Given the description of an element on the screen output the (x, y) to click on. 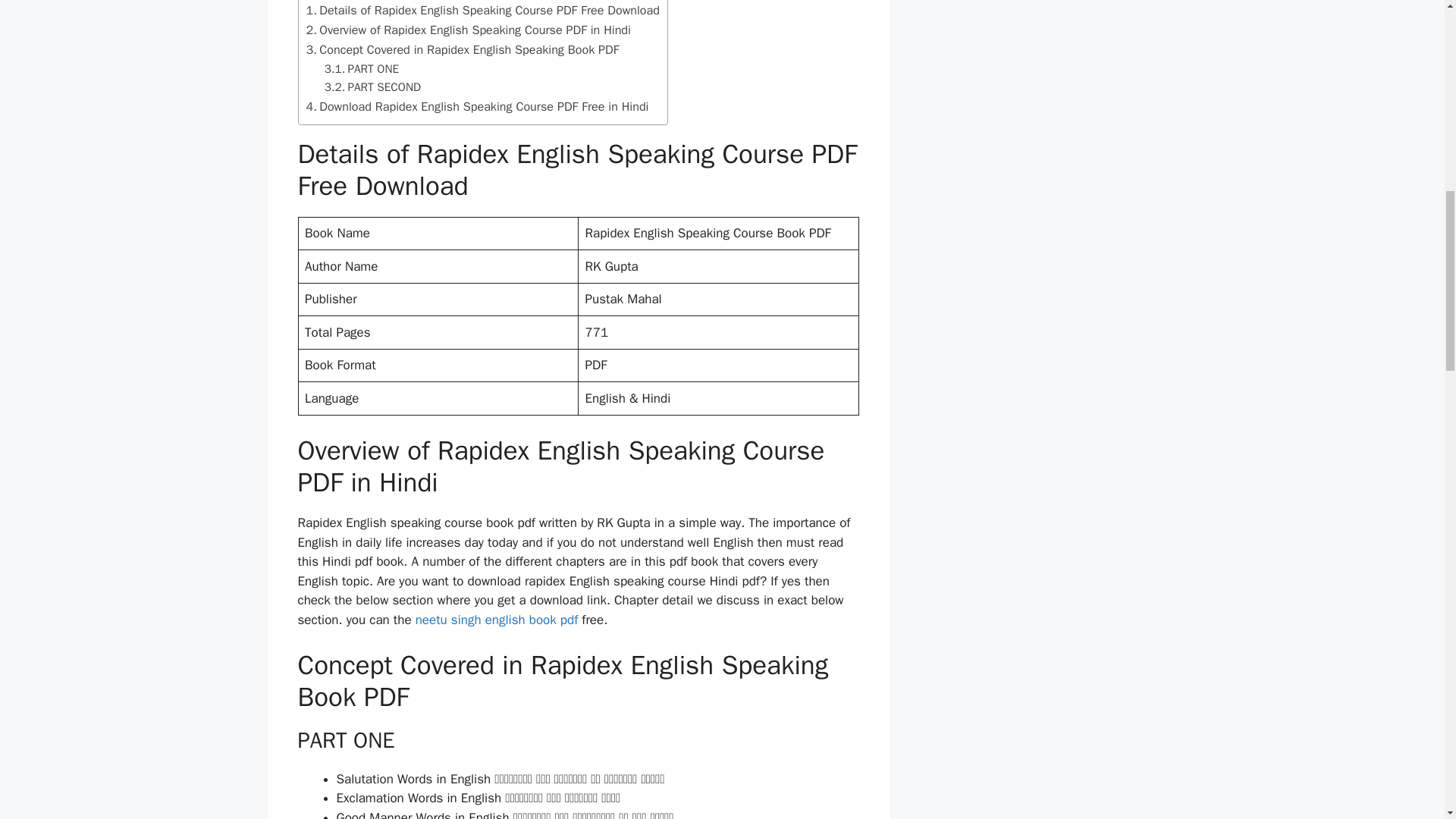
Overview of Rapidex English Speaking Course PDF in Hindi (467, 29)
Download Rapidex English Speaking Course PDF Free in Hindi (477, 106)
neetu singh english book pdf (496, 619)
Download Rapidex English Speaking Course PDF Free in Hindi (477, 106)
Details of Rapidex English Speaking Course PDF Free Download (482, 10)
PART ONE (361, 68)
PART SECOND (372, 87)
Overview of Rapidex English Speaking Course PDF in Hindi (467, 29)
Concept Covered in Rapidex English Speaking Book PDF (462, 49)
Concept Covered in Rapidex English Speaking Book PDF (462, 49)
PART ONE (361, 68)
Details of Rapidex English Speaking Course PDF Free Download (482, 10)
PART SECOND (372, 87)
